Given the description of an element on the screen output the (x, y) to click on. 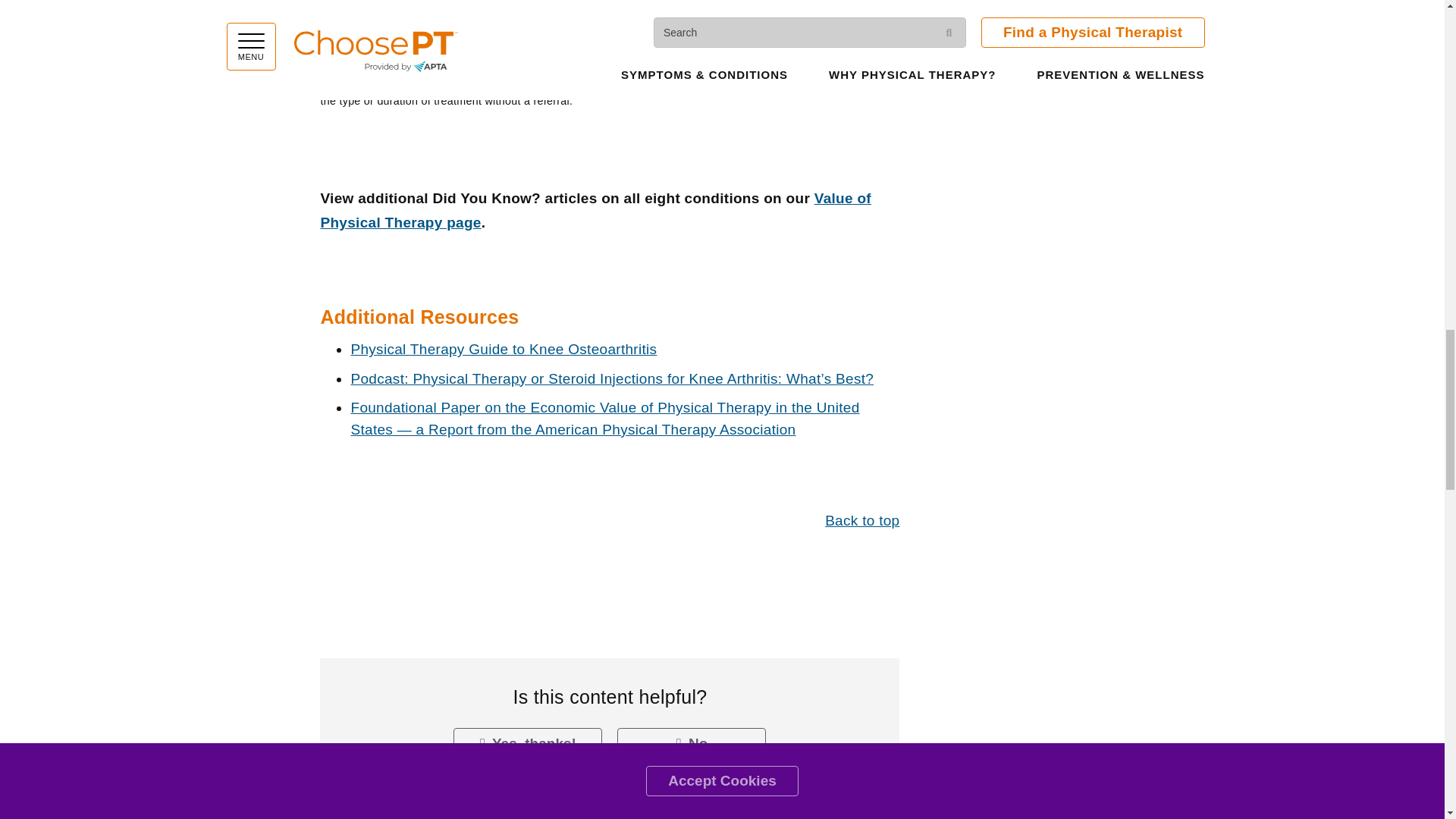
Find a PT (408, 24)
Back to top (862, 520)
Value of Physical Therapy (595, 210)
Physical Therapy Guide to Knee Osteoarthritis (503, 349)
